Given the description of an element on the screen output the (x, y) to click on. 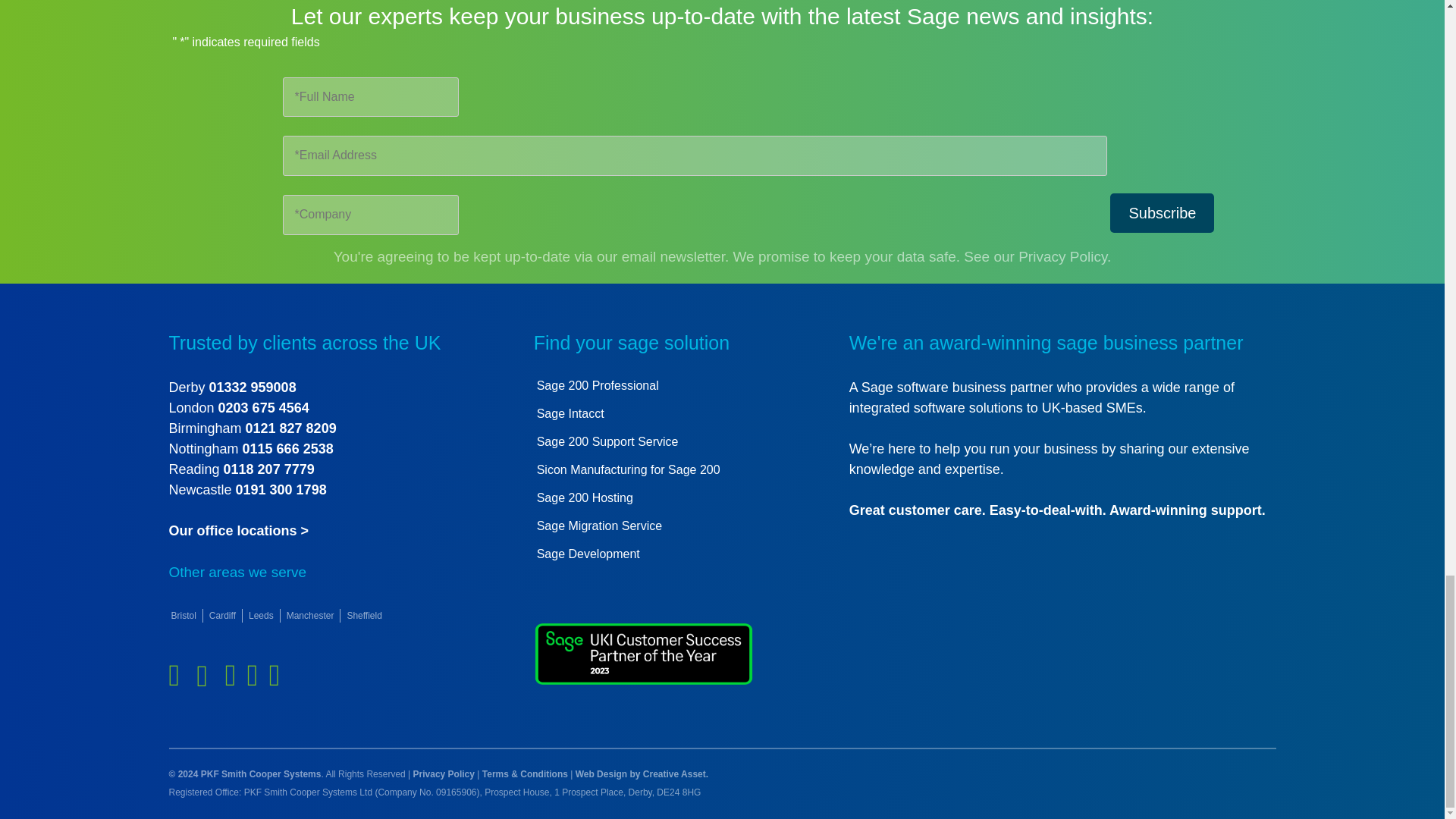
Subscribe (1161, 212)
